Given the description of an element on the screen output the (x, y) to click on. 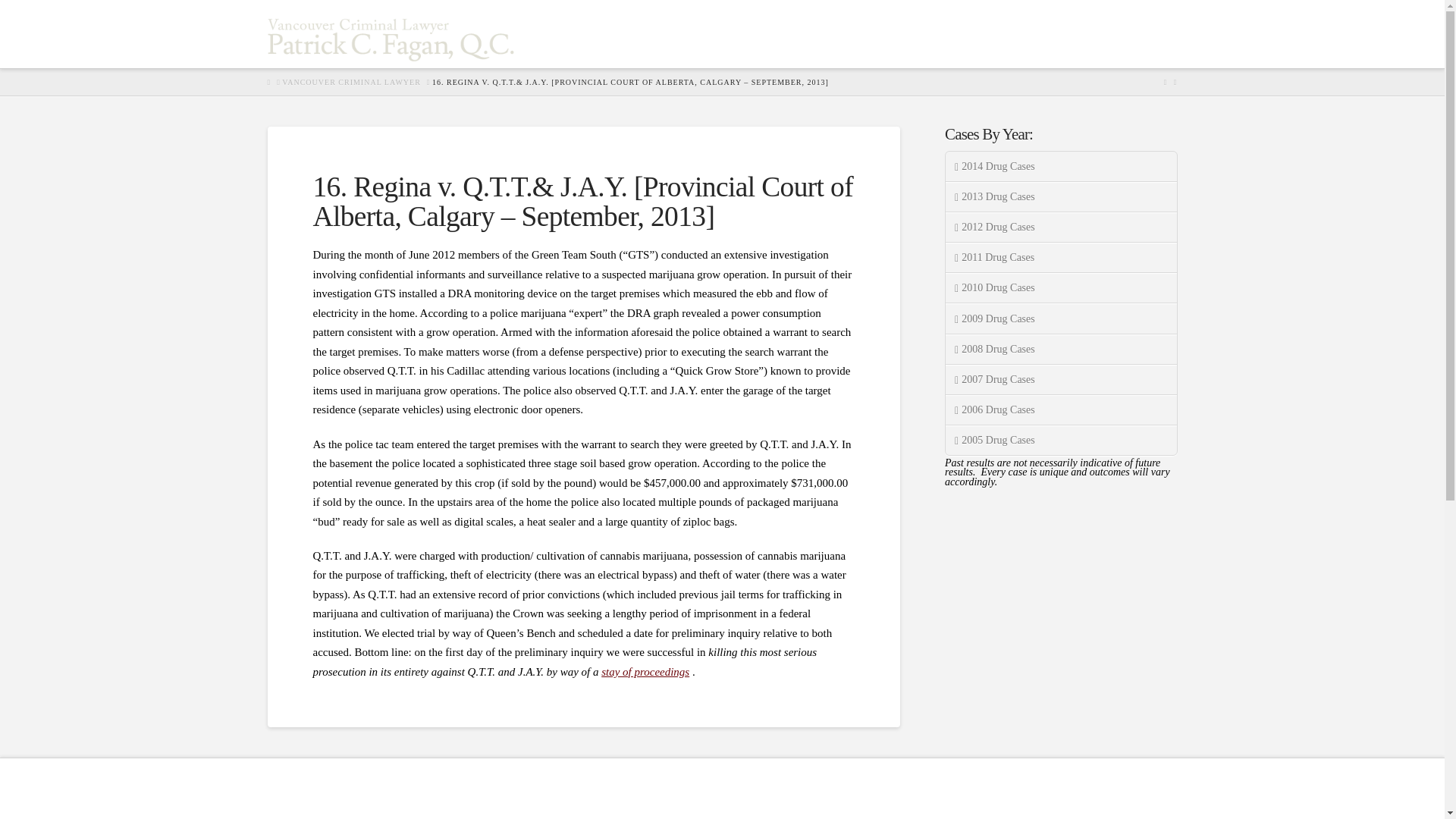
PRACTICE AREAS (840, 33)
LAWYER PROFILES (707, 33)
You Are Here (630, 81)
IN THE NEWS (957, 33)
CONTACT (1053, 33)
Stay of Proceedings (644, 671)
BC ROOTS (1136, 33)
